Given the description of an element on the screen output the (x, y) to click on. 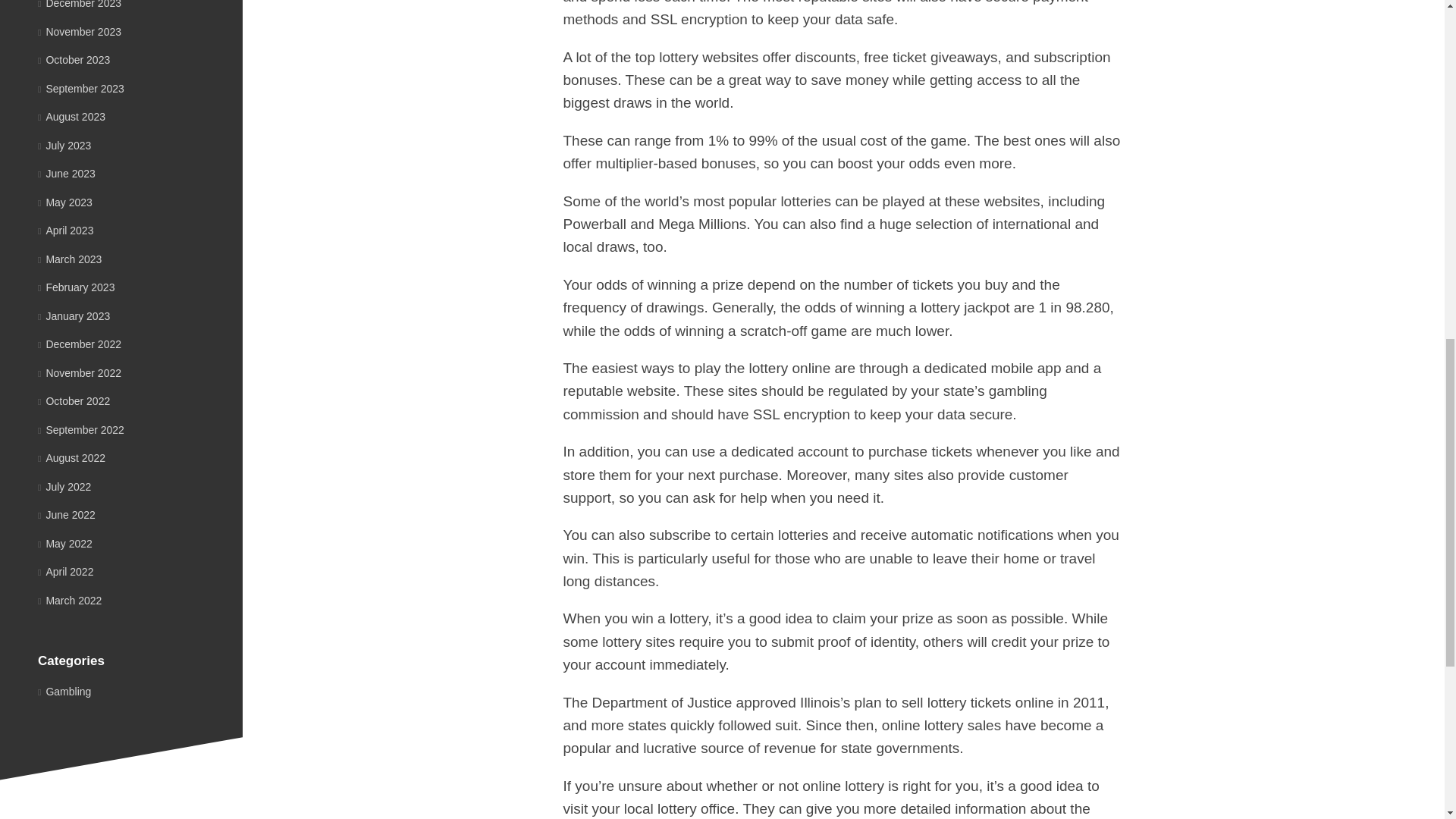
December 2023 (78, 4)
March 2023 (69, 259)
October 2023 (73, 60)
February 2023 (76, 287)
November 2023 (78, 31)
June 2023 (66, 173)
October 2022 (73, 400)
August 2022 (70, 458)
January 2023 (73, 315)
May 2023 (65, 201)
August 2023 (70, 116)
September 2023 (80, 87)
December 2022 (78, 344)
September 2022 (80, 428)
April 2023 (65, 230)
